Given the description of an element on the screen output the (x, y) to click on. 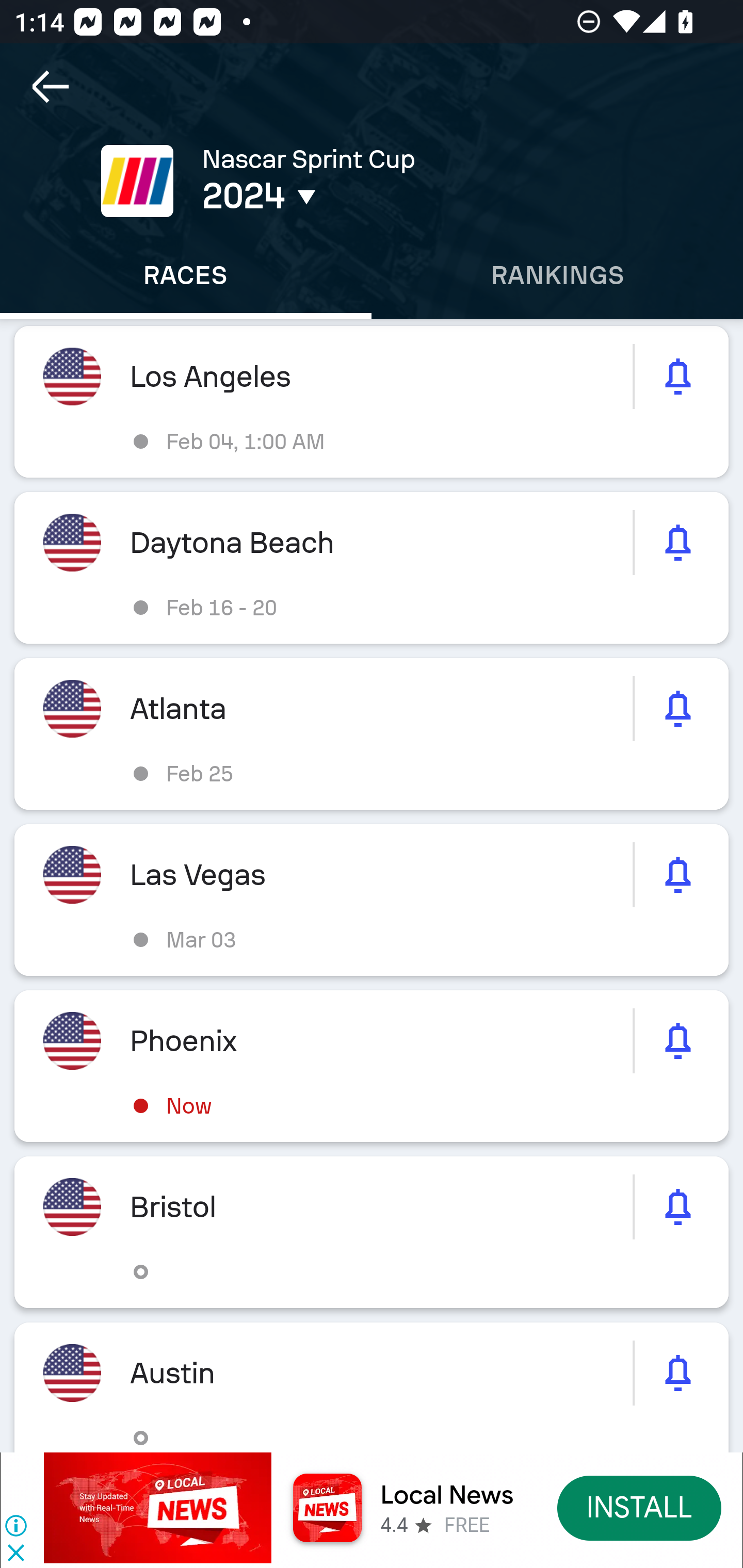
Navigate up (50, 86)
2024 (350, 195)
Rankings RANKINGS (557, 275)
Los Angeles picture Feb 04, 1:00 AM (371, 402)
Daytona Beach picture Feb 16 - 20 (371, 568)
Atlanta picture Feb 25 (371, 733)
Las Vegas picture Mar 03 (371, 899)
Phoenix picture Now (371, 1065)
Bristol picture (371, 1232)
Austin picture (371, 1386)
INSTALL (639, 1507)
Local News (446, 1494)
